Given the description of an element on the screen output the (x, y) to click on. 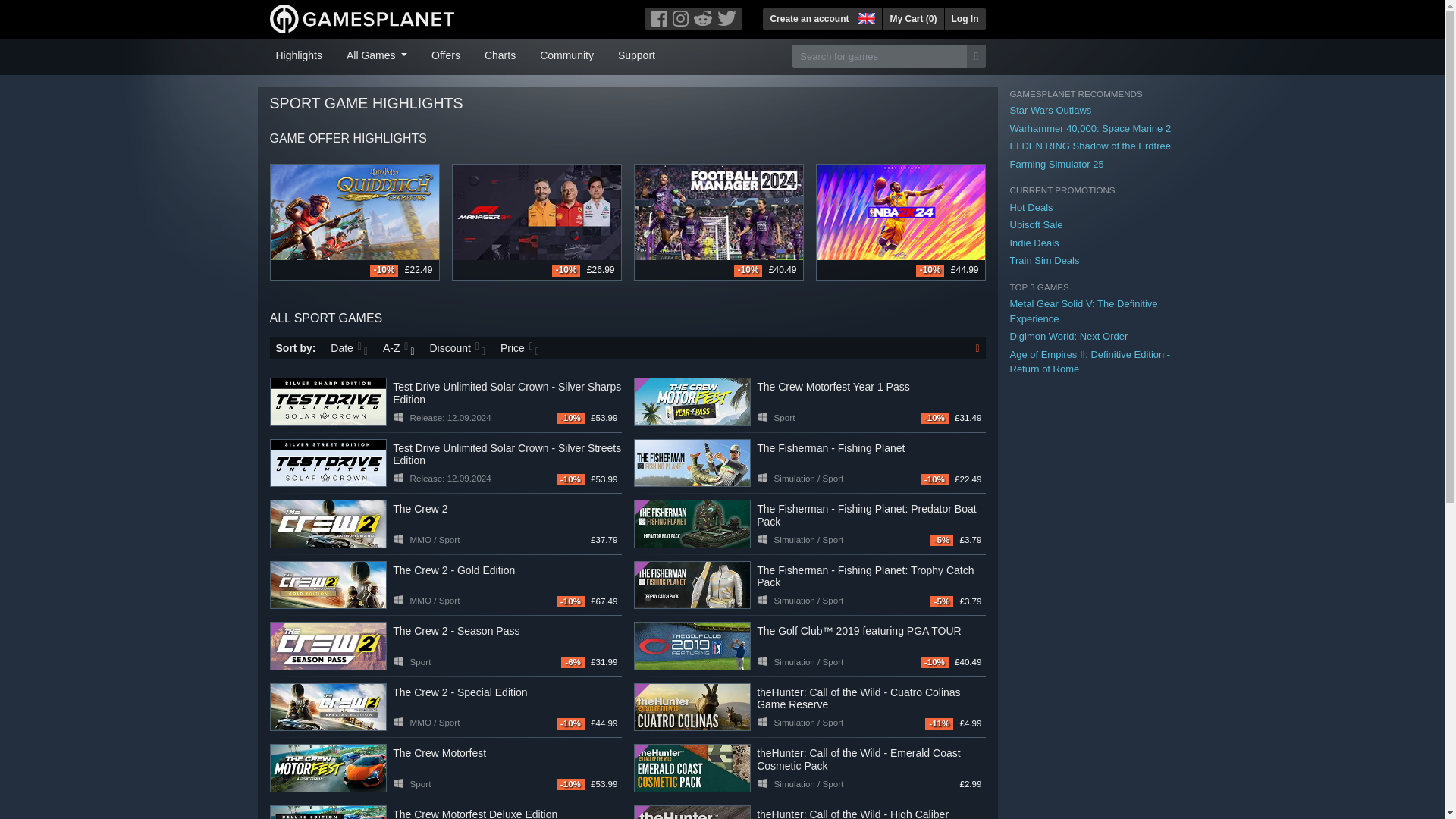
All Games (376, 53)
The Crew 2 - Special Edition (328, 707)
The Fisherman - Fishing Planet: Predator Boat Pack (692, 523)
The Crew 2 - Season Pass (328, 645)
theHunter: Call of the Wild - Cuatro Colinas Game Reserve (692, 707)
The Crew 2 (328, 523)
The Crew Motorfest Deluxe Edition (328, 812)
Log In (964, 18)
The Crew Motorfest Year 1 Pass (692, 401)
The Crew 2 - Gold Edition (328, 585)
